Given the description of an element on the screen output the (x, y) to click on. 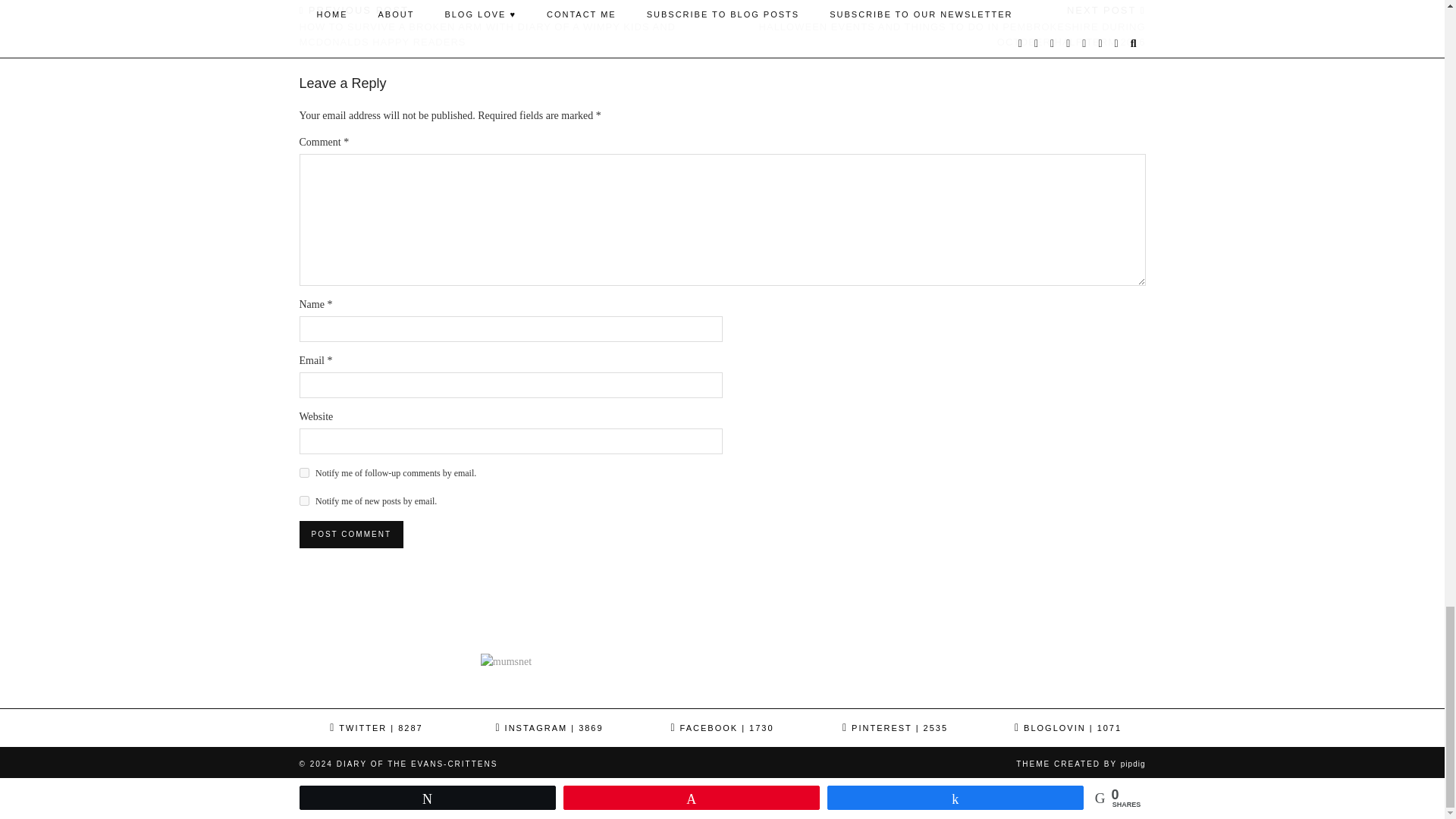
subscribe (303, 501)
subscribe (303, 472)
Post Comment (350, 533)
